Given the description of an element on the screen output the (x, y) to click on. 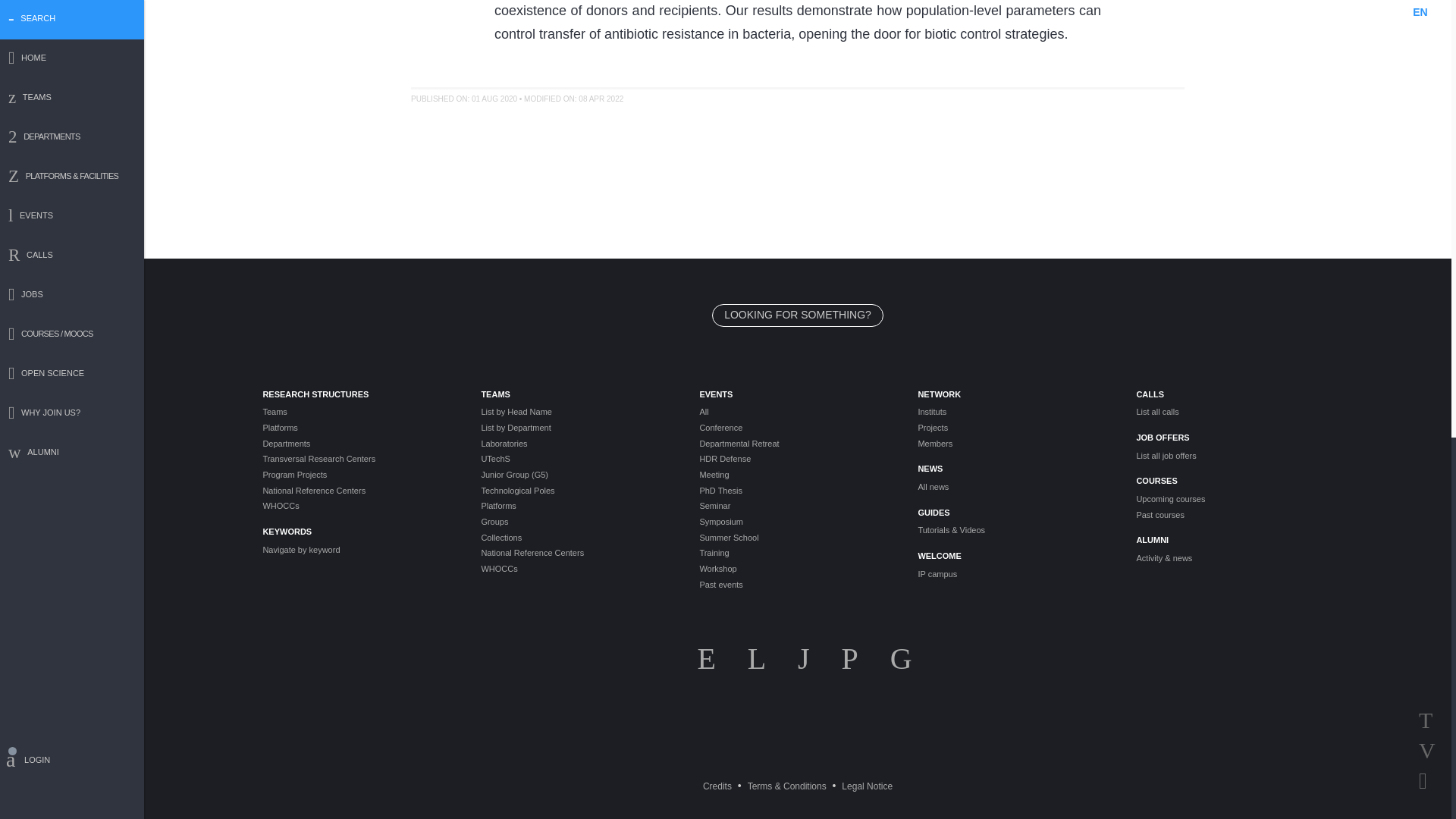
Platforms (360, 427)
Teams (360, 411)
